Given the description of an element on the screen output the (x, y) to click on. 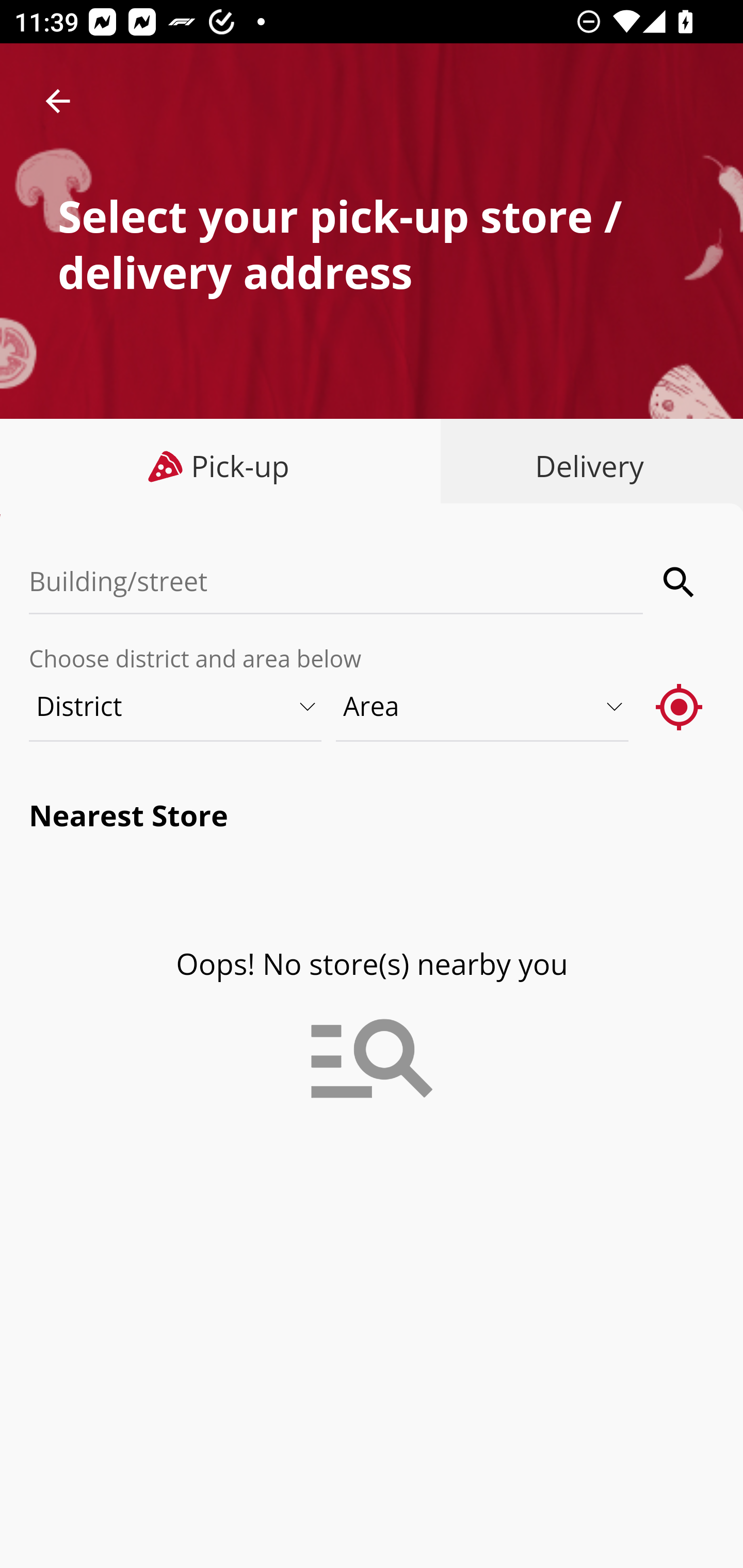
arrow_back (58, 100)
prev next Pick-up Delivery (371, 467)
Delivery (585, 466)
search (679, 582)
gps_fixed (679, 706)
District (175, 706)
Area (482, 706)
